Given the description of an element on the screen output the (x, y) to click on. 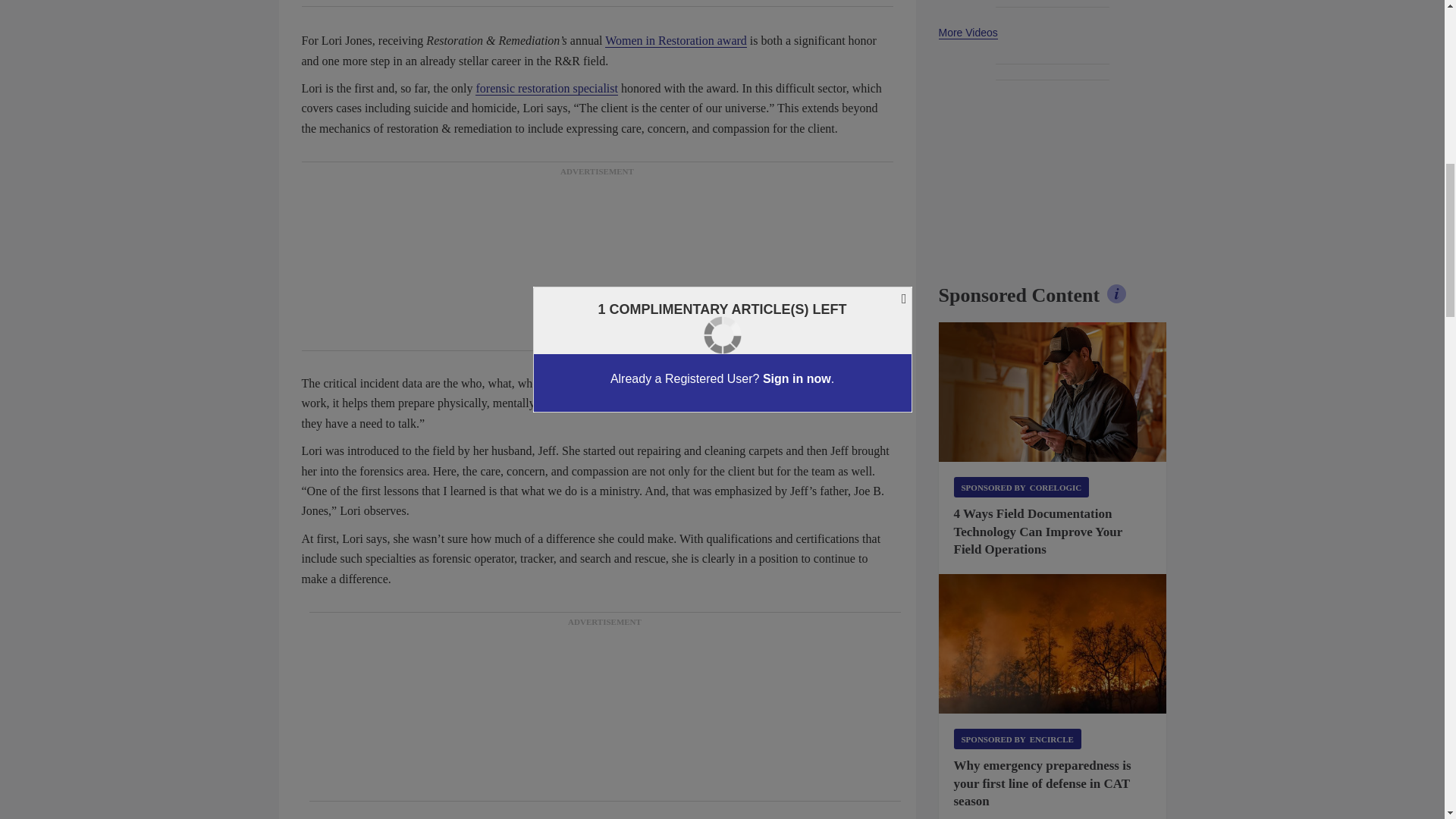
restoration technician using field documentation software (1052, 391)
Sponsored by CoreLogic (1021, 486)
Sponsored by Encircle (1017, 738)
wildfire (1052, 643)
